Given the description of an element on the screen output the (x, y) to click on. 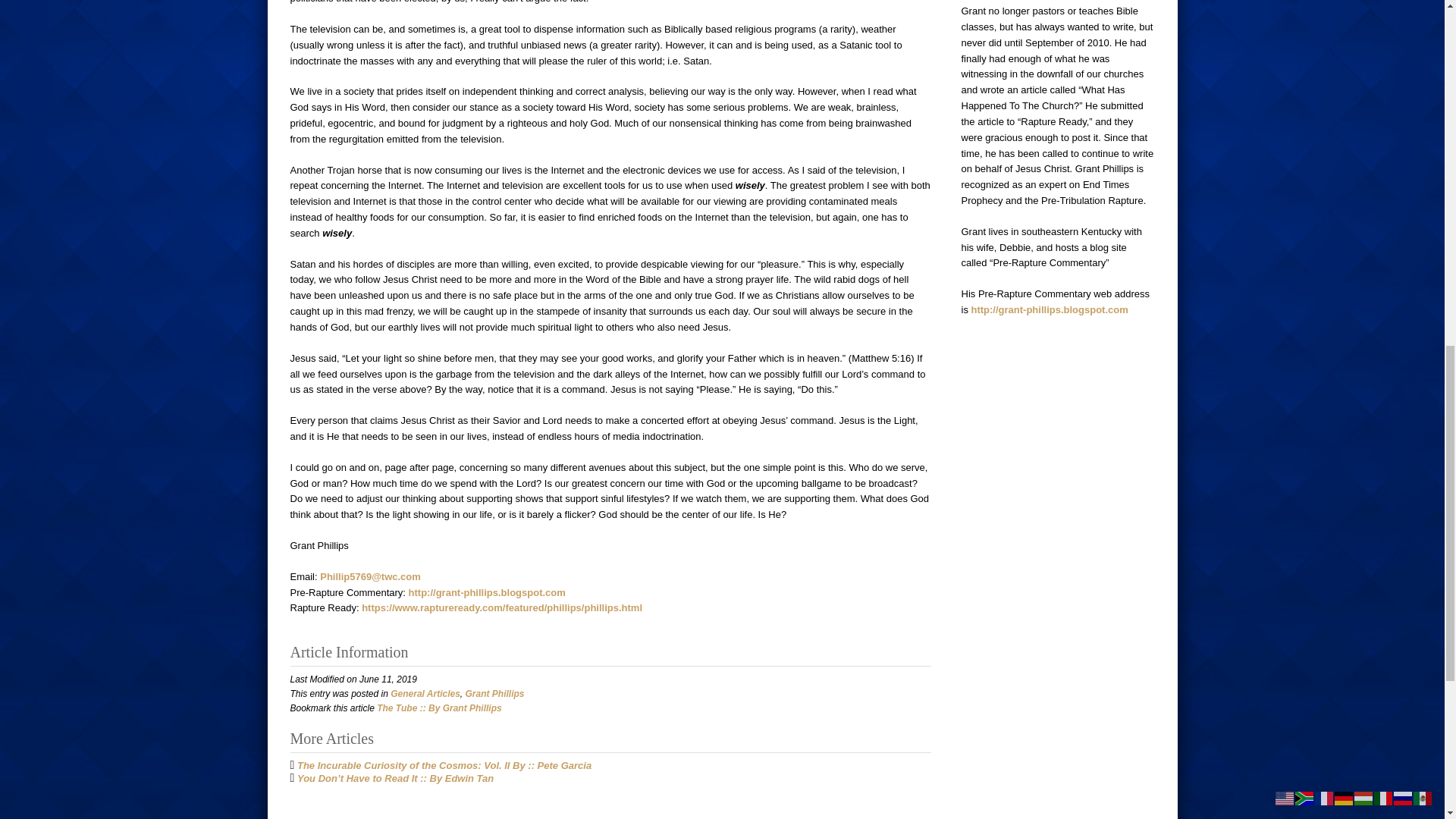
Grant Phillips (494, 693)
General Articles (425, 693)
The Tube :: By Grant Phillips (438, 707)
